Given the description of an element on the screen output the (x, y) to click on. 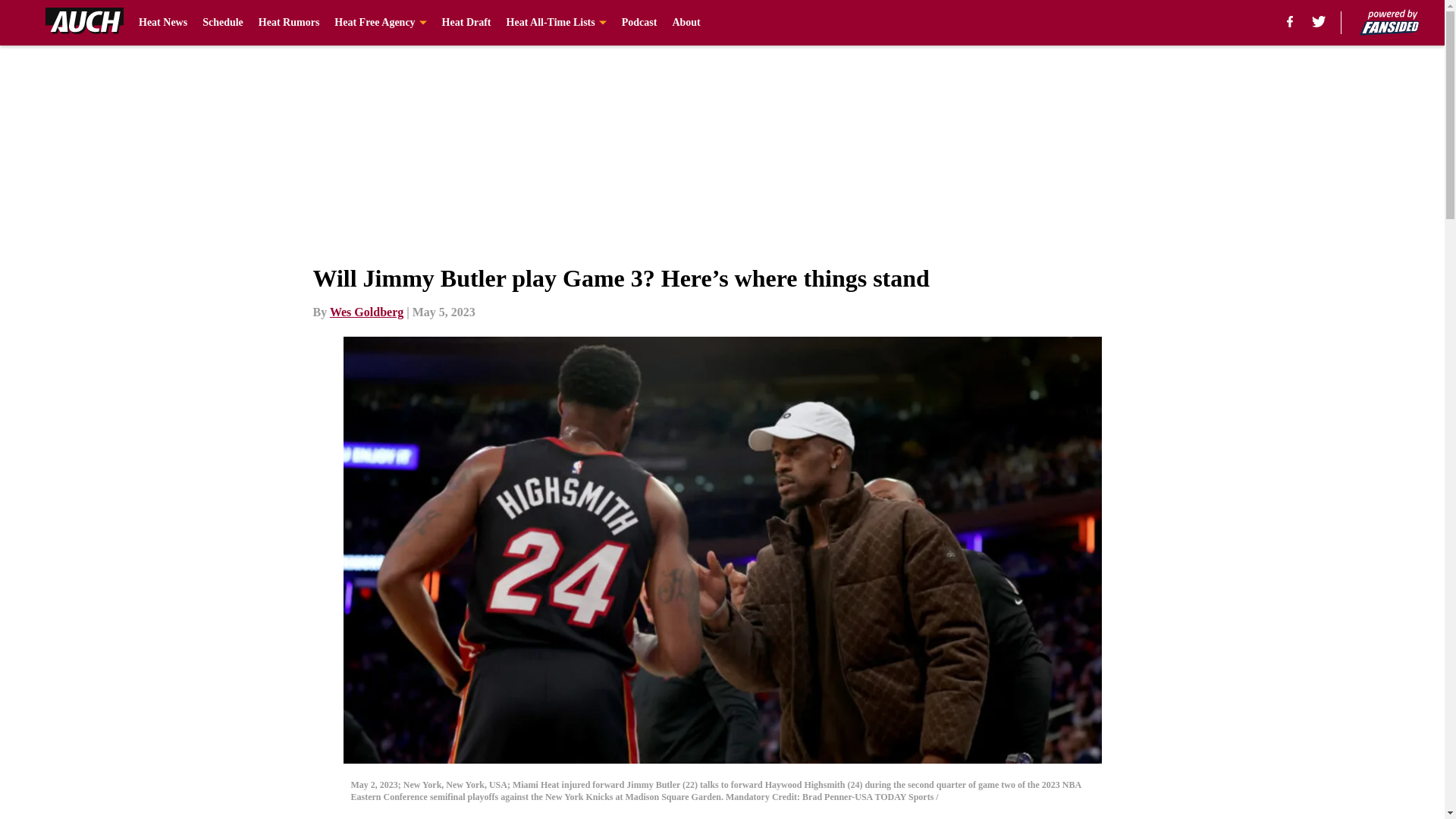
Heat News (162, 22)
Podcast (639, 22)
Heat Rumors (289, 22)
Schedule (222, 22)
About (685, 22)
Heat Draft (467, 22)
Wes Goldberg (366, 311)
